Given the description of an element on the screen output the (x, y) to click on. 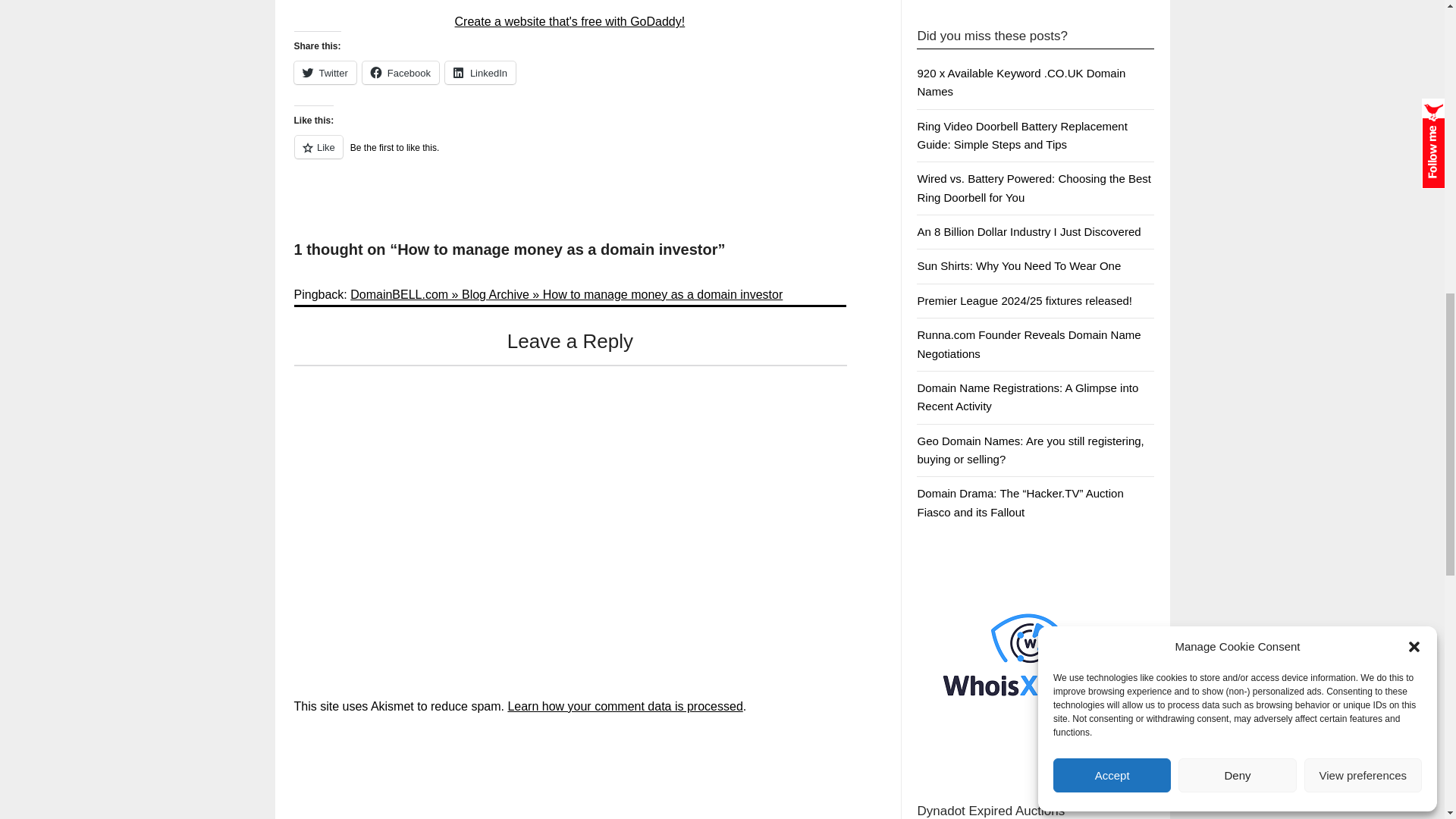
Click to share on Twitter (325, 72)
Twitter (325, 72)
Click to share on Facebook (400, 72)
Click to share on LinkedIn (480, 72)
Create a website that's free with GoDaddy! (569, 21)
LinkedIn (480, 72)
Facebook (400, 72)
Like or Reblog (570, 155)
Visit our Sponsor (1030, 661)
